Given the description of an element on the screen output the (x, y) to click on. 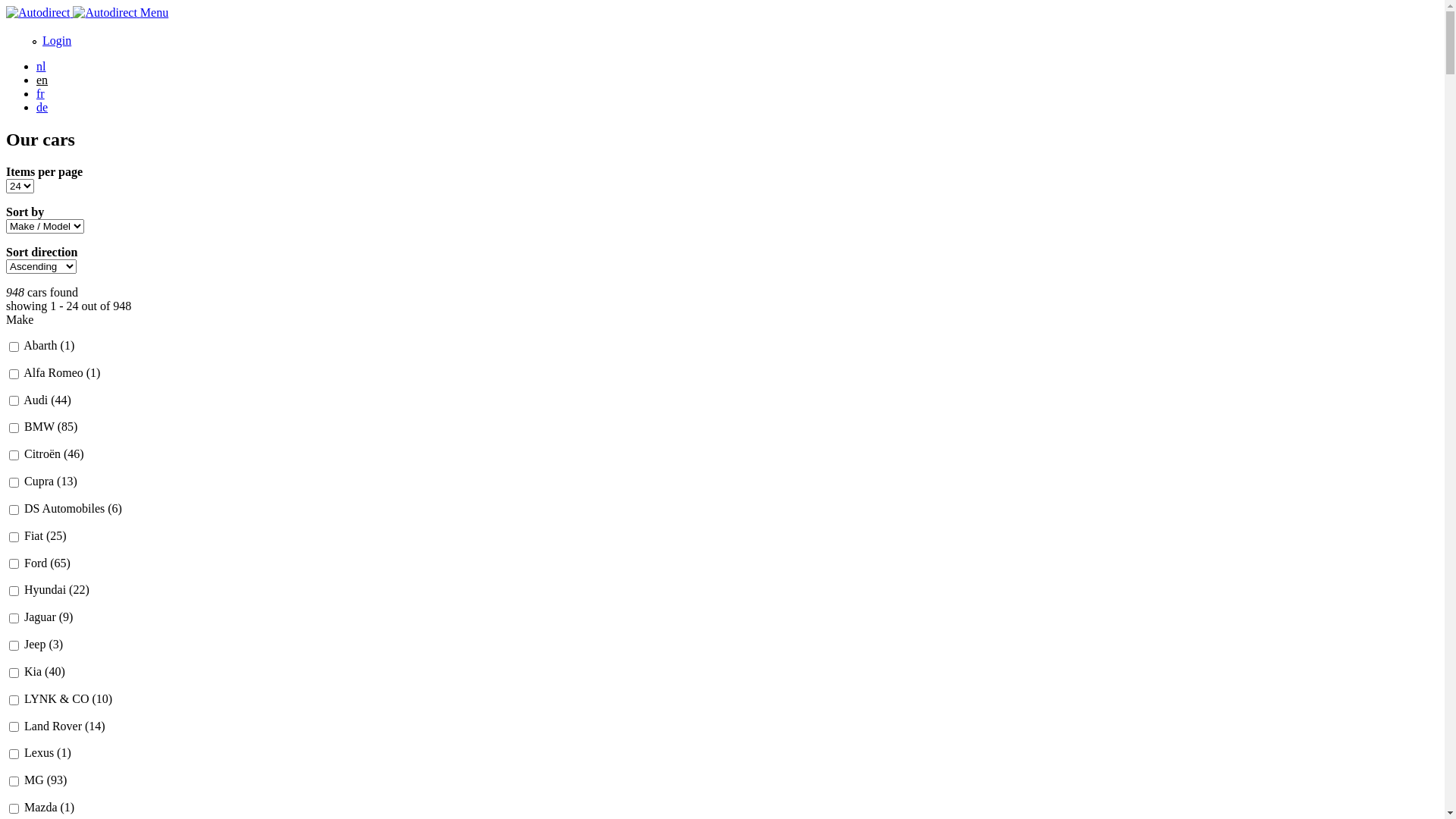
Autodirect Element type: hover (73, 12)
Menu Element type: text (154, 12)
nl Element type: text (40, 65)
de Element type: text (41, 106)
Login Element type: text (56, 40)
en Element type: text (41, 79)
fr Element type: text (40, 93)
